Given the description of an element on the screen output the (x, y) to click on. 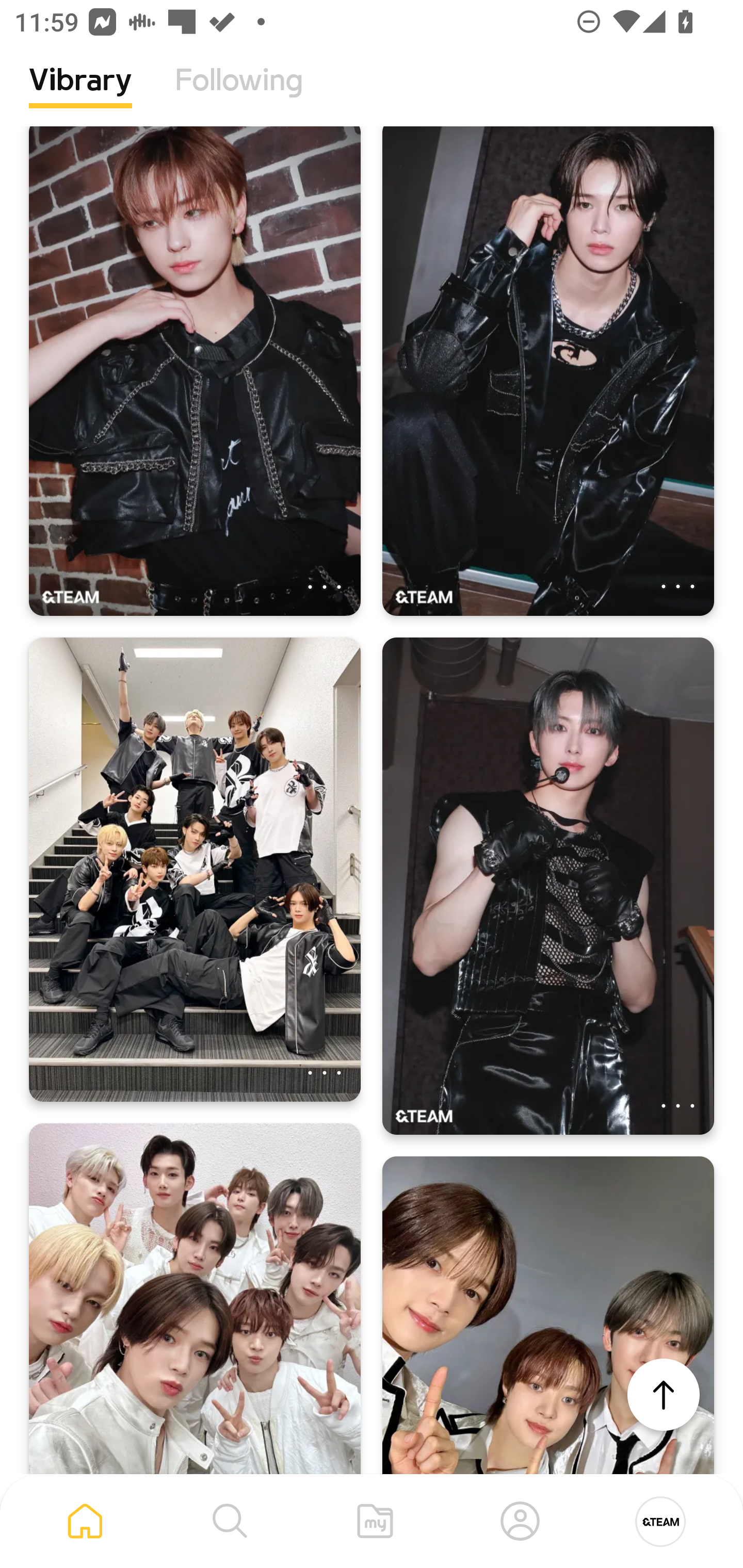
Vibrary (80, 95)
Following (239, 95)
